Given the description of an element on the screen output the (x, y) to click on. 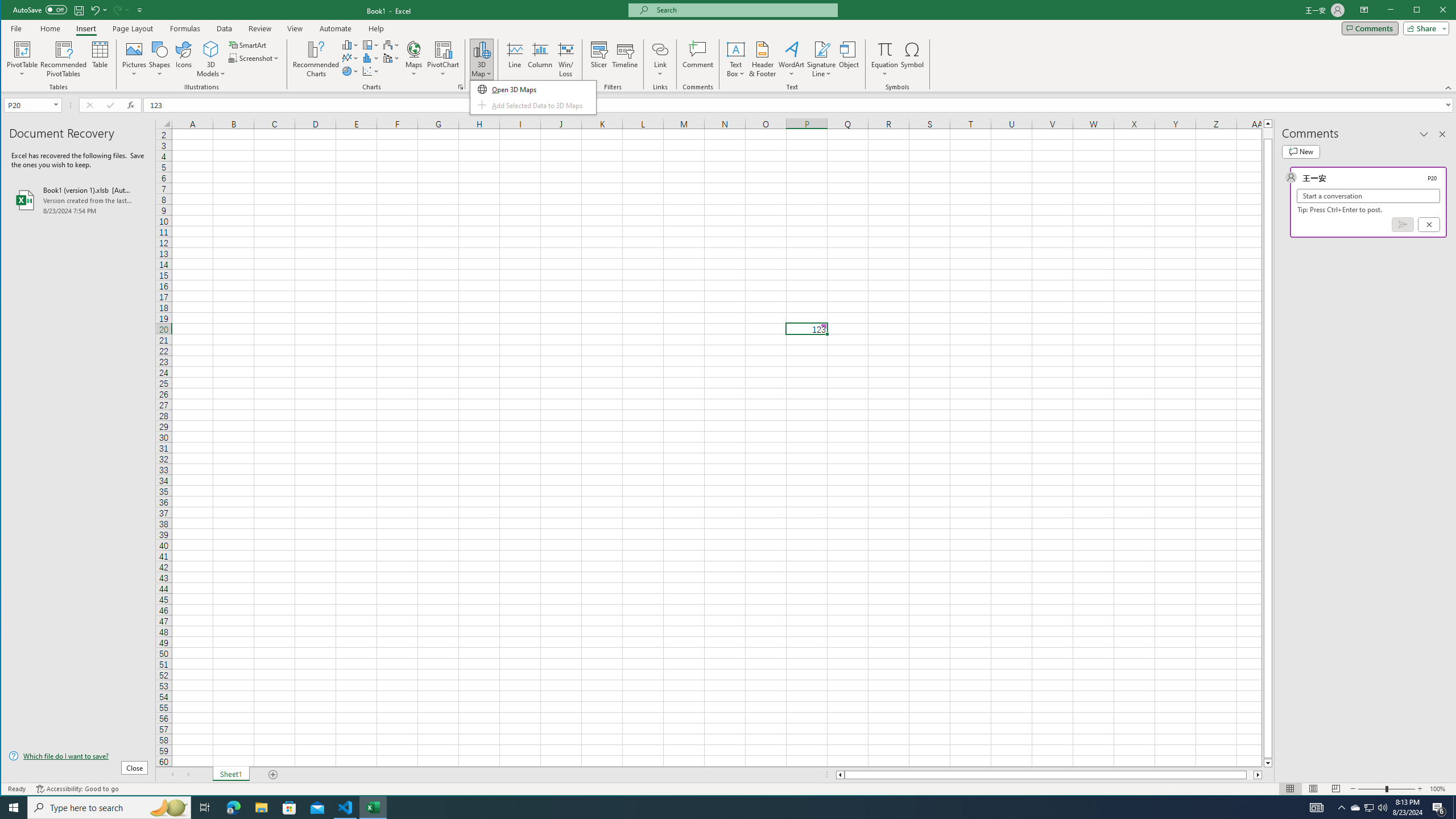
Start a conversation (1368, 195)
Object... (848, 59)
Column (540, 59)
Pictures (134, 59)
Insert Statistic Chart (371, 57)
Insert Pie or Doughnut Chart (350, 70)
Win/Loss (565, 59)
